Given the description of an element on the screen output the (x, y) to click on. 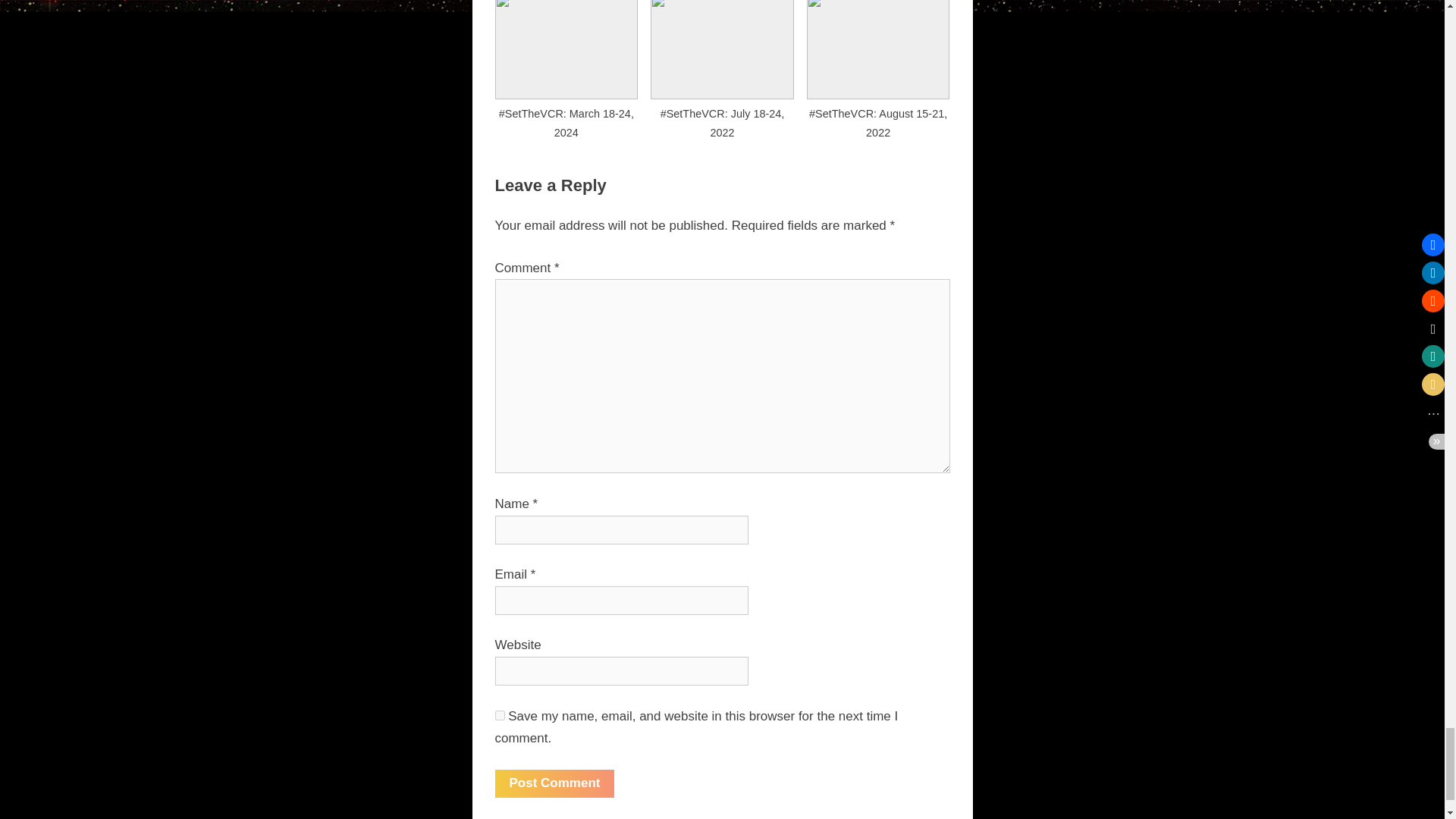
yes (499, 715)
Post Comment (554, 783)
